Given the description of an element on the screen output the (x, y) to click on. 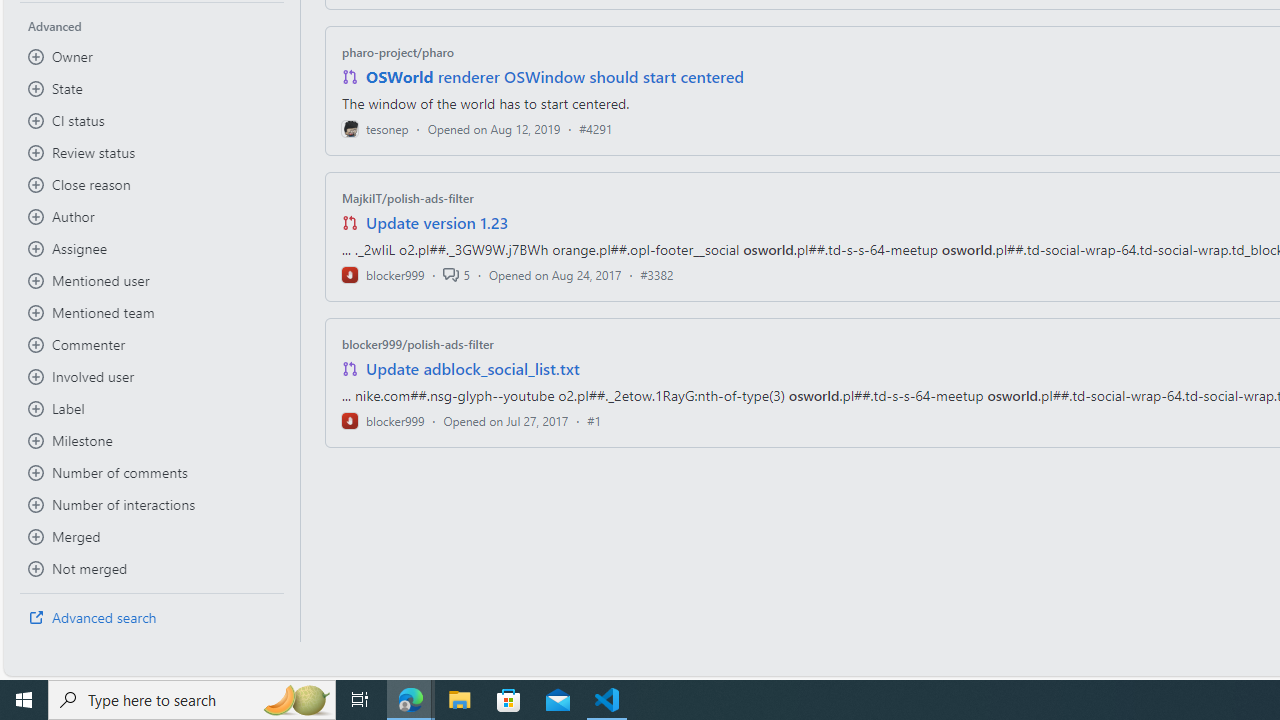
blocker999/polish-ads-filter (417, 343)
Update version 1.23 (437, 222)
blocker999 (382, 420)
MajkiIT/polish-ads-filter (407, 197)
pharo-project/pharo (397, 52)
#3382 (657, 273)
#3382 (657, 273)
